Given the description of an element on the screen output the (x, y) to click on. 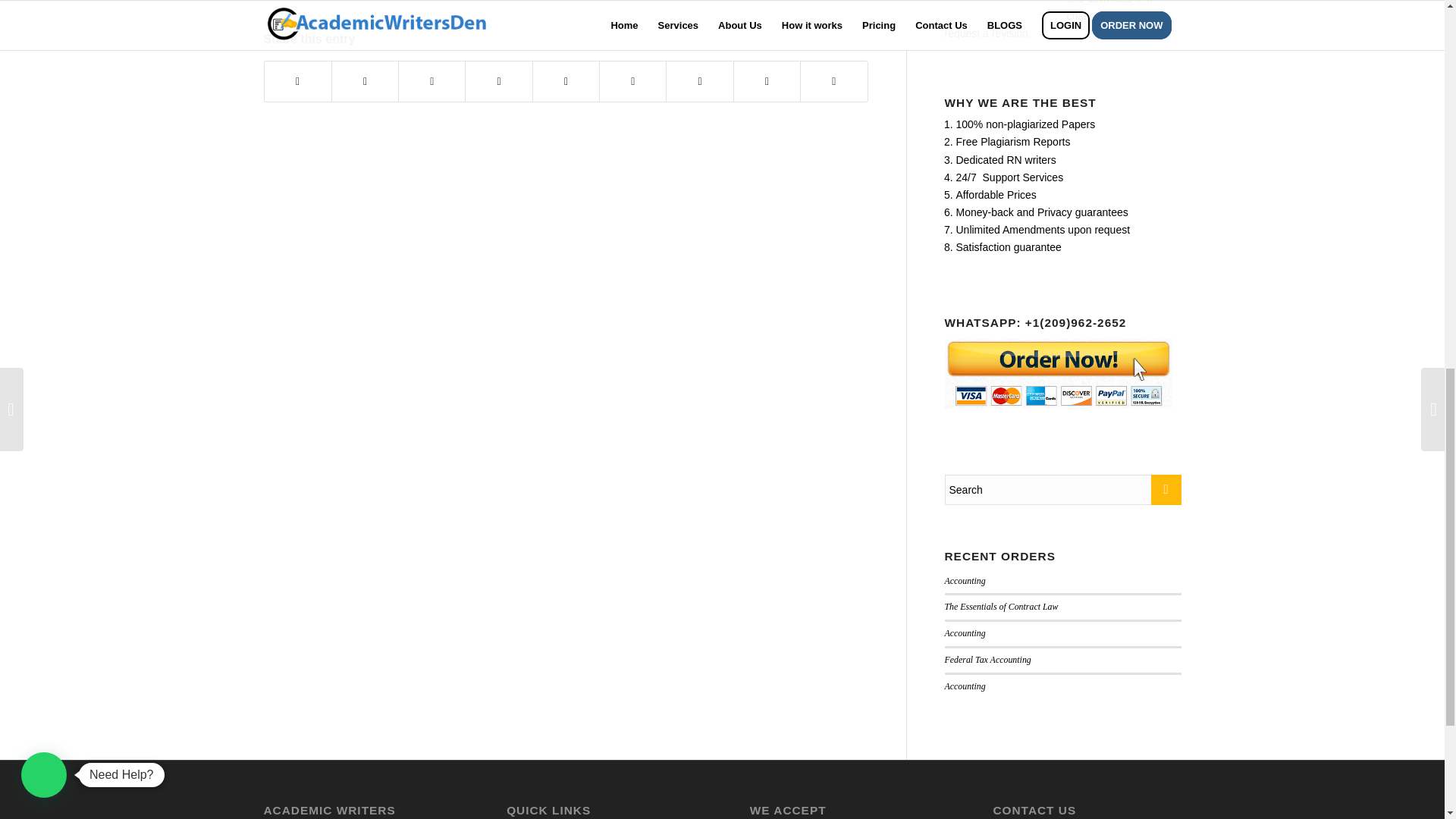
Accounting (964, 685)
Accounting (964, 633)
Accounting (964, 579)
Federal Tax Accounting (987, 659)
The Essentials of Contract Law (1001, 606)
